Given the description of an element on the screen output the (x, y) to click on. 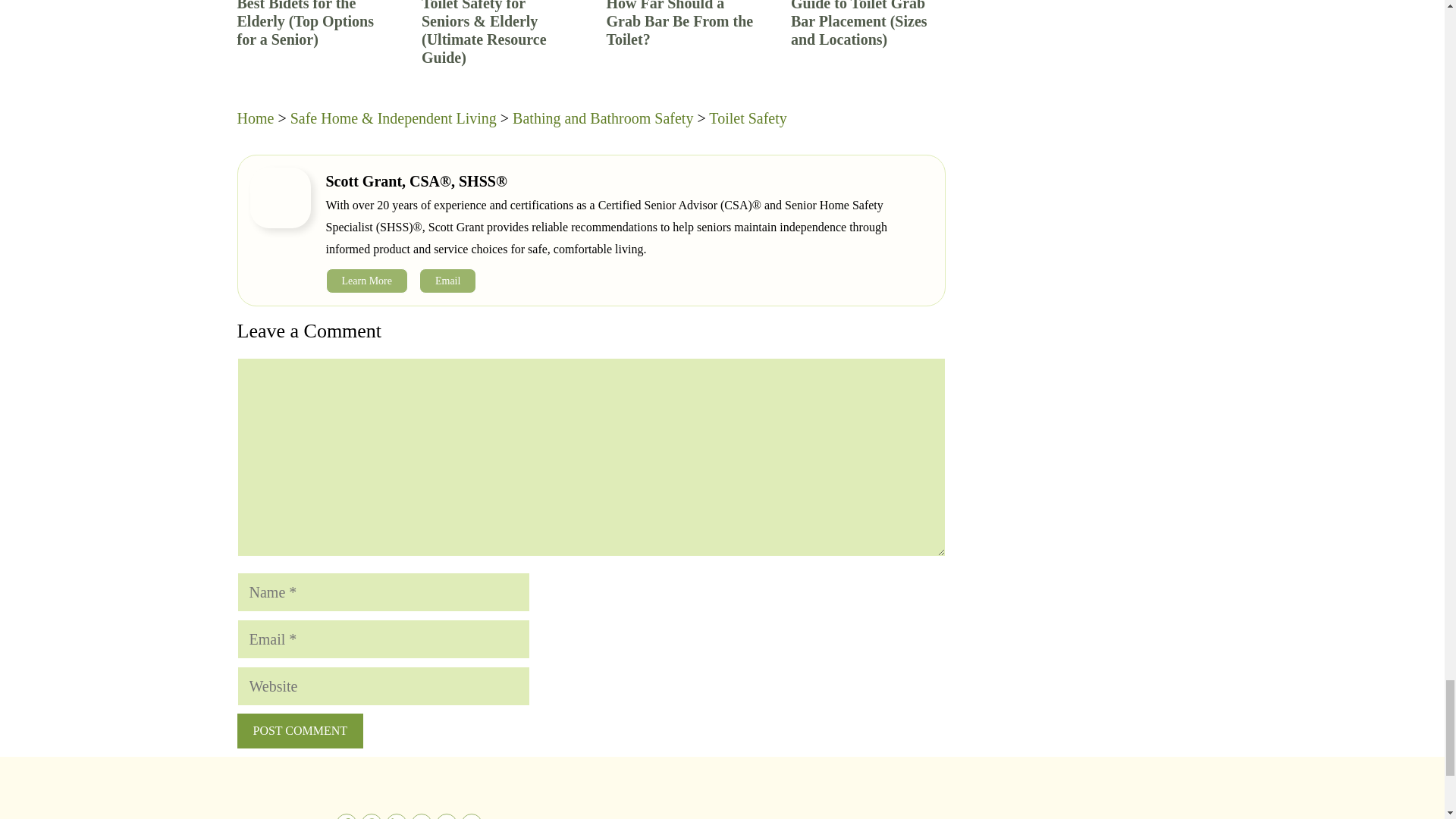
Post Comment (298, 730)
